Given the description of an element on the screen output the (x, y) to click on. 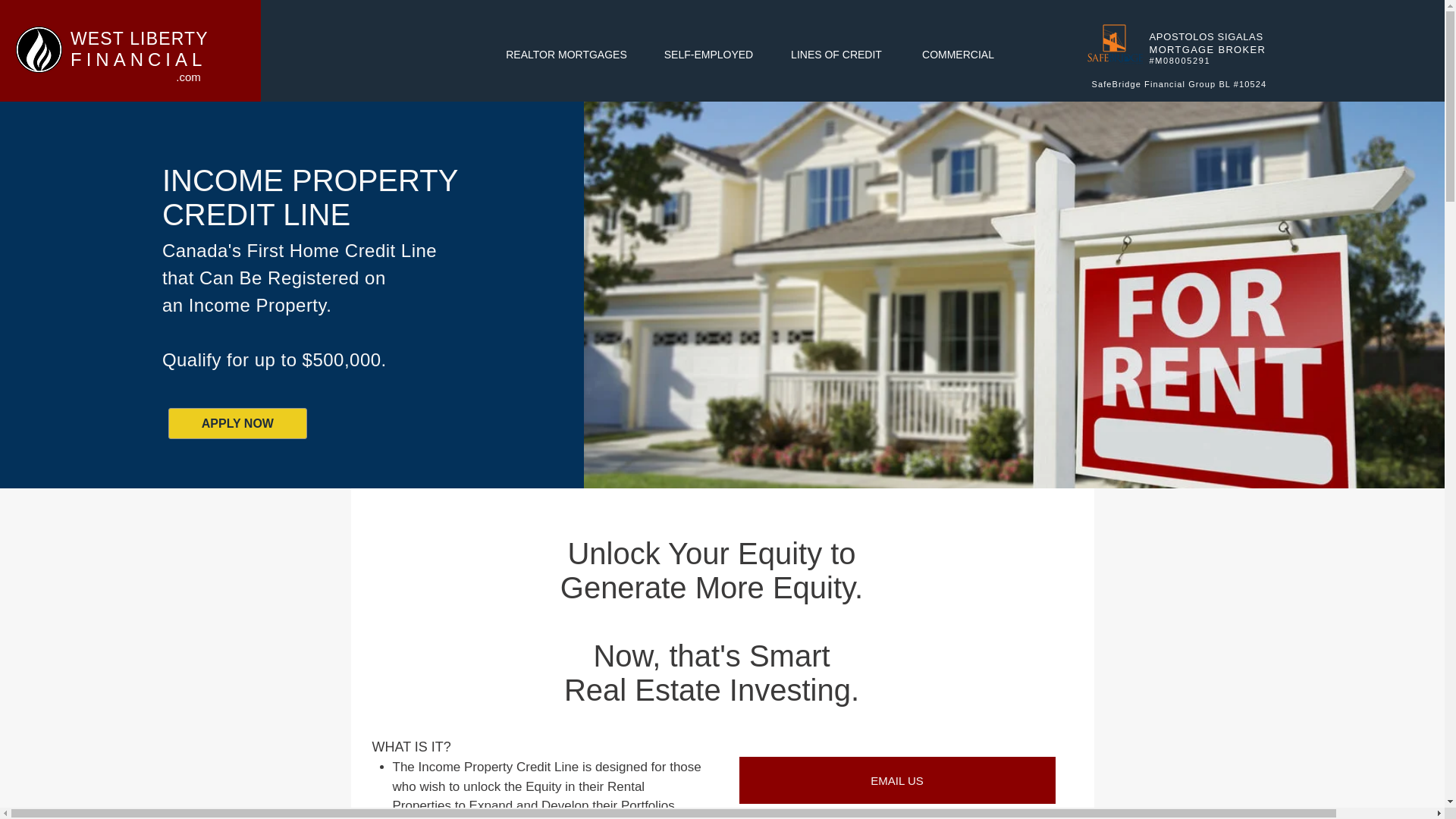
FINANCIAL (137, 59)
WEST LIBERTY (138, 38)
.com (188, 76)
LINES OF CREDIT (836, 54)
APPLY NOW (237, 422)
MORTGAGE BROKER (1208, 49)
COMMERCIAL (957, 54)
REALTOR MORTGAGES (565, 54)
black-and-white-fire-clipart-black-lg-md.png (39, 49)
EMAIL US (896, 779)
APOSTOLOS SIGALAS (1206, 36)
